Given the description of an element on the screen output the (x, y) to click on. 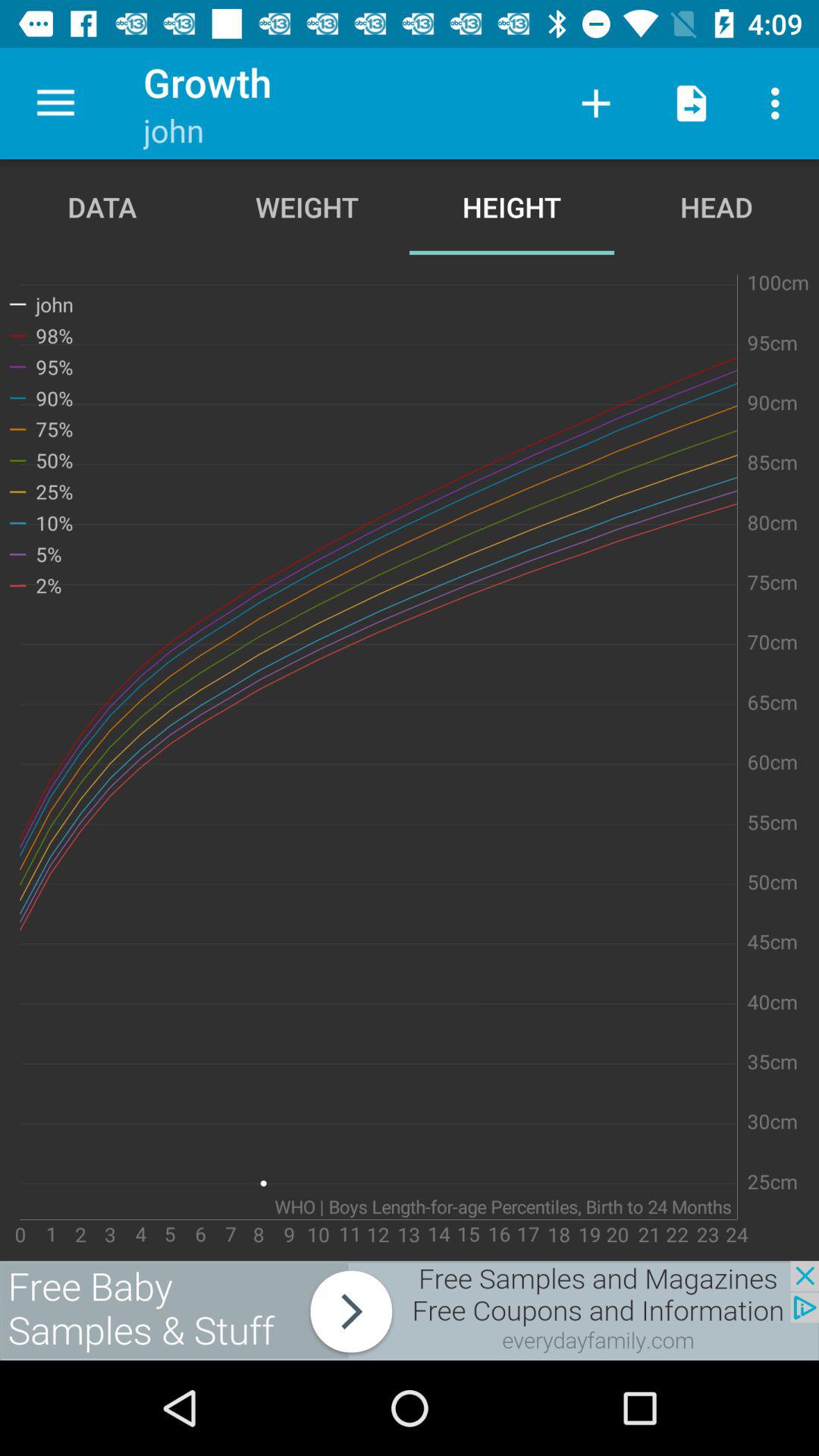
open the advertisement (409, 1310)
